Given the description of an element on the screen output the (x, y) to click on. 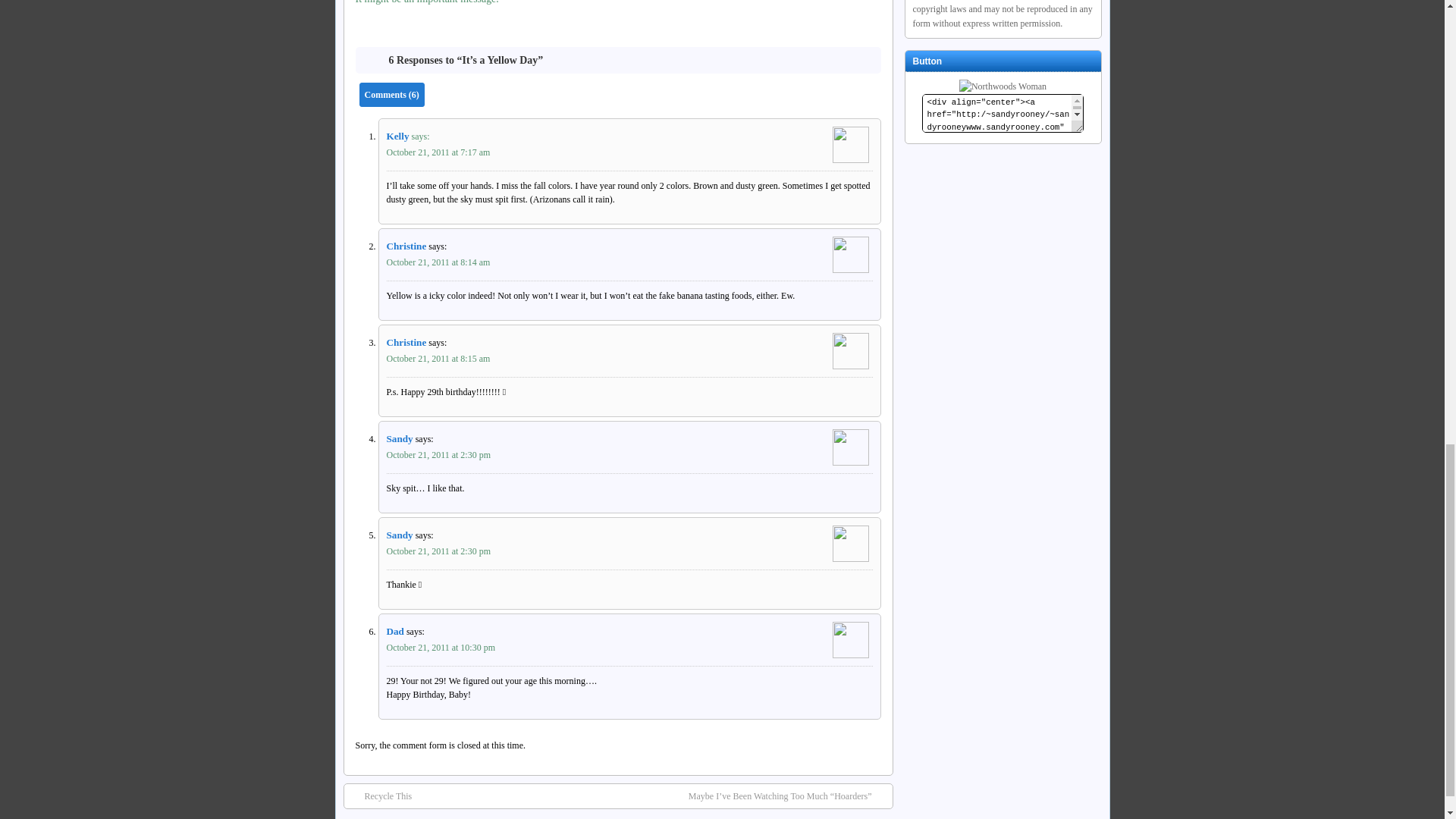
October 21, 2011 at 7:17 am (438, 152)
October 21, 2011 at 2:30 pm (439, 454)
October 21, 2011 at 2:30 pm (439, 551)
October 21, 2011 at 10:30 pm (441, 647)
October 21, 2011 at 8:14 am (438, 262)
Northwoods Woman (1002, 86)
  Recycle This (380, 796)
October 21, 2011 at 8:15 am (438, 357)
Kelly says: (629, 138)
